Given the description of an element on the screen output the (x, y) to click on. 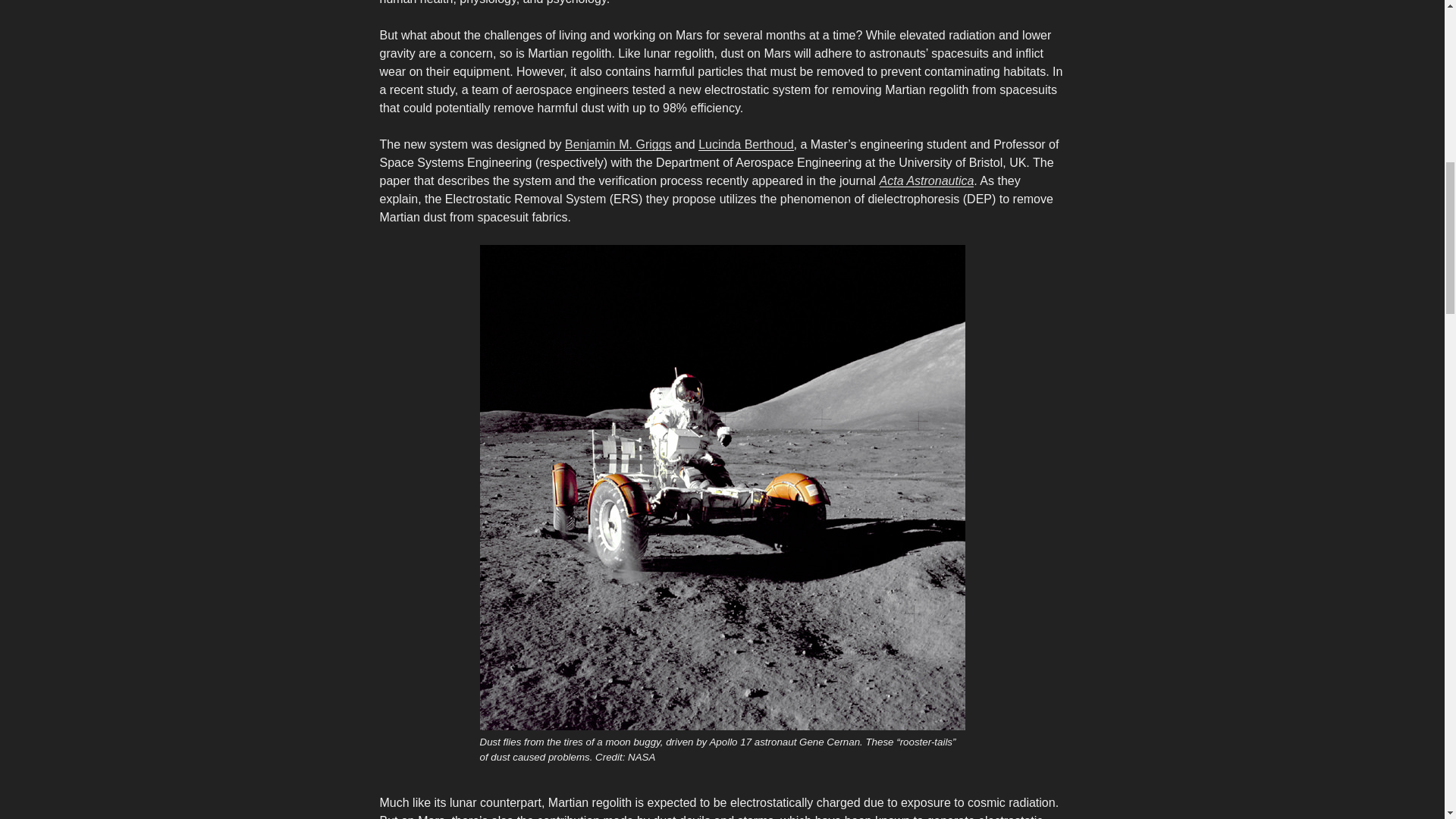
Acta Astronautica (926, 180)
Benjamin M. Griggs (617, 144)
Lucinda Berthoud (745, 144)
